Given the description of an element on the screen output the (x, y) to click on. 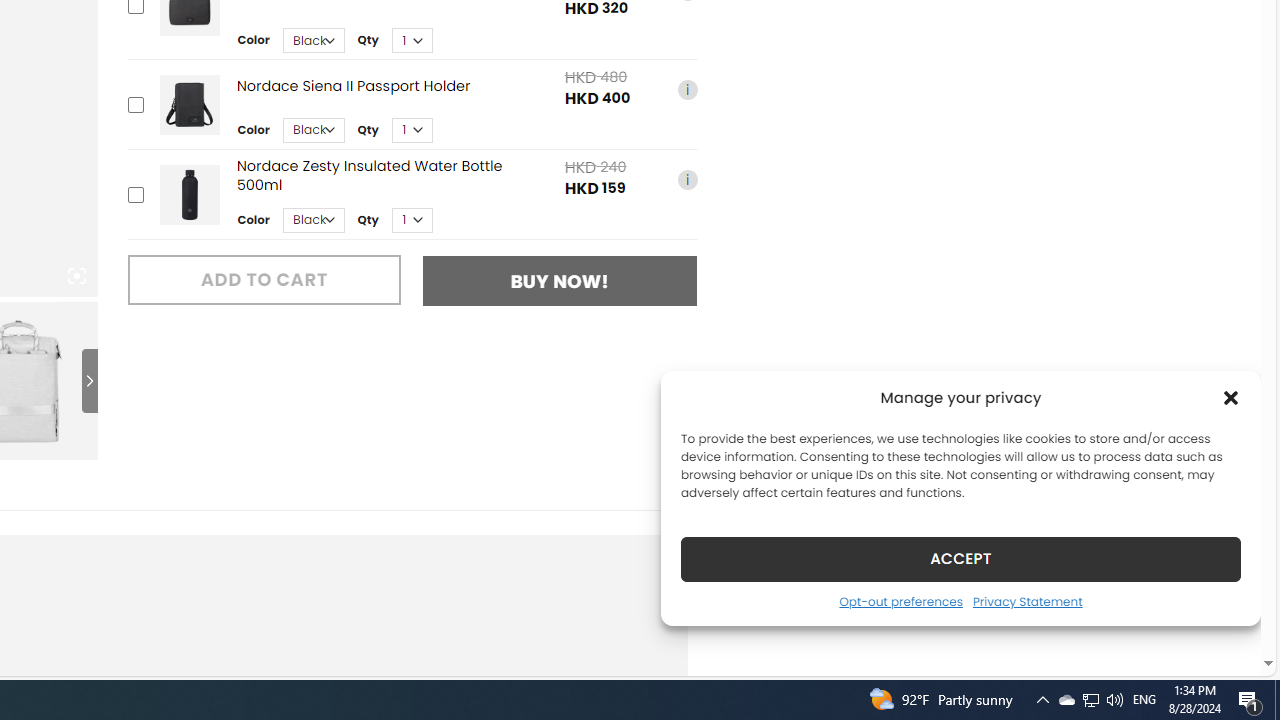
BUY NOW! (559, 281)
ACCEPT (960, 558)
Nordace Siena II Passport Holder (189, 104)
Opt-out preferences (900, 601)
i (687, 179)
Class: iconic-woothumbs-fullscreen (75, 276)
ADD TO CART (263, 279)
Nordace Zesty Insulated Water Bottle 500ml (189, 194)
Privacy Statement (1026, 601)
Class: cmplz-close (1231, 397)
Class: upsell-v2-product-upsell-variable-product-qty-select (411, 220)
Add this product to cart (134, 194)
